Given the description of an element on the screen output the (x, y) to click on. 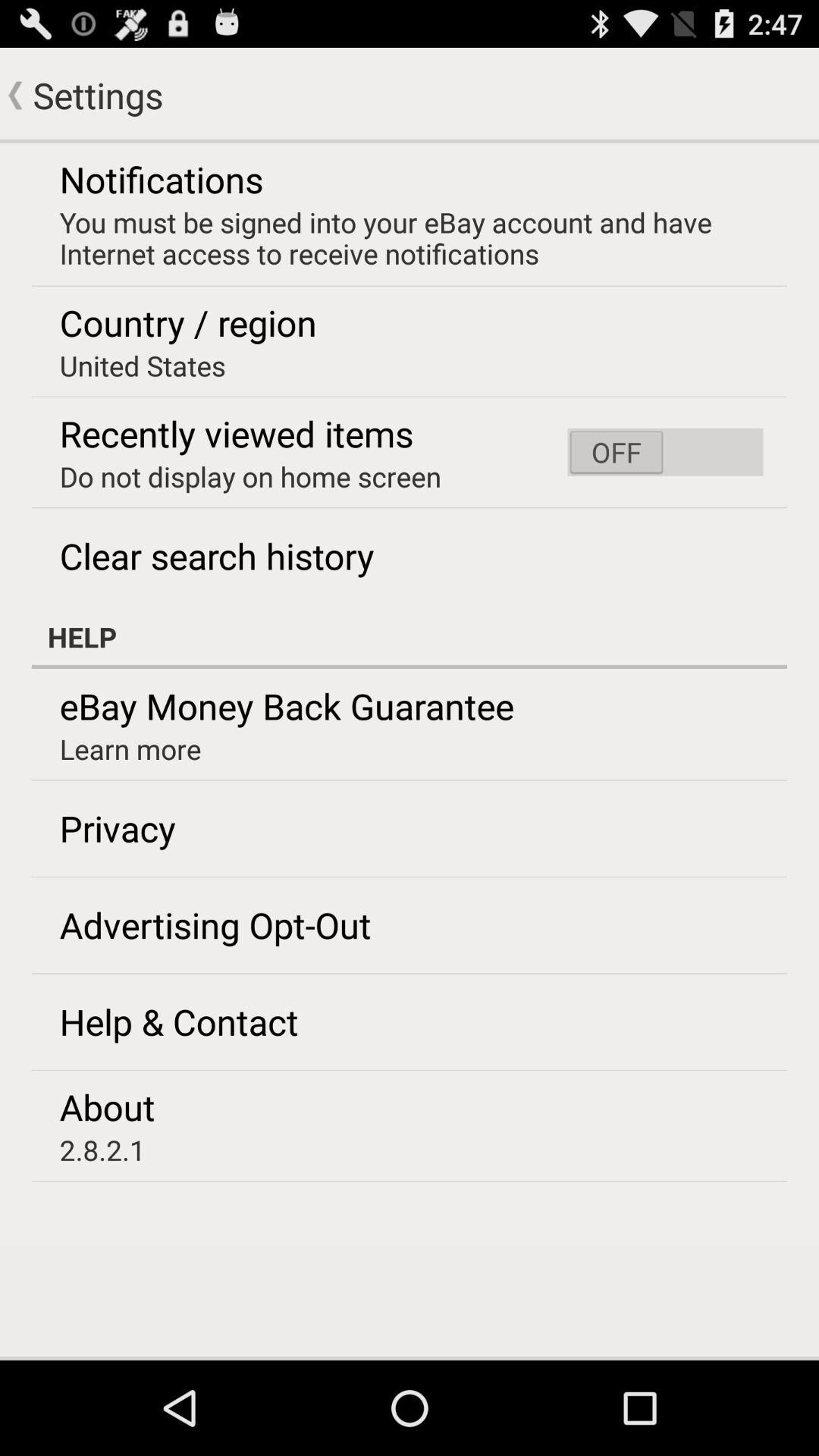
select item above help (665, 451)
